Given the description of an element on the screen output the (x, y) to click on. 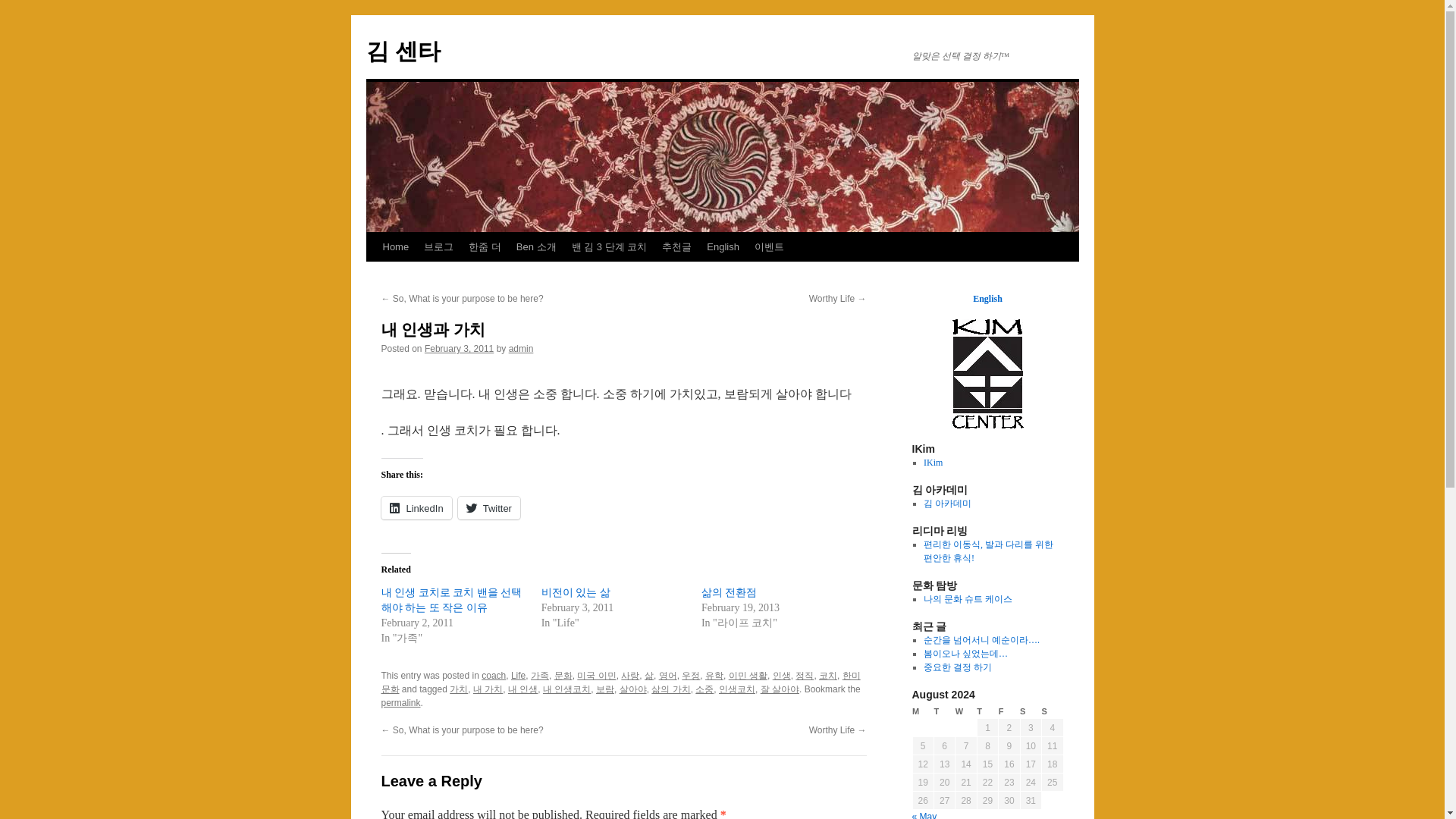
9:36 pm (459, 348)
Tuesday (944, 711)
View all posts by admin (521, 348)
admin (521, 348)
Life (518, 675)
LinkedIn (415, 507)
Wednesday (965, 711)
English (722, 246)
Home (395, 246)
Click to share on LinkedIn (415, 507)
